Given the description of an element on the screen output the (x, y) to click on. 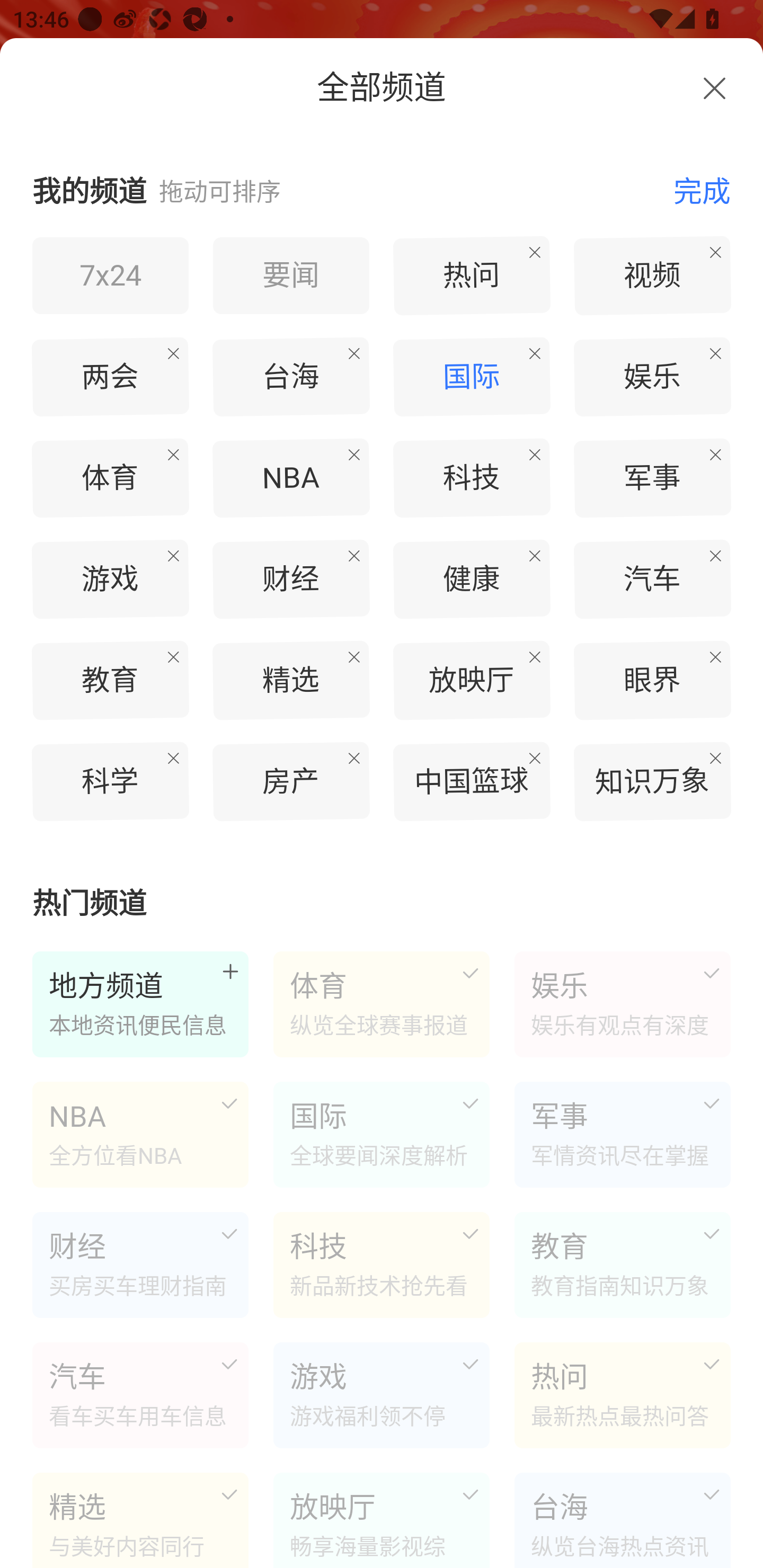
 (714, 87)
完成 (691, 190)
